Given the description of an element on the screen output the (x, y) to click on. 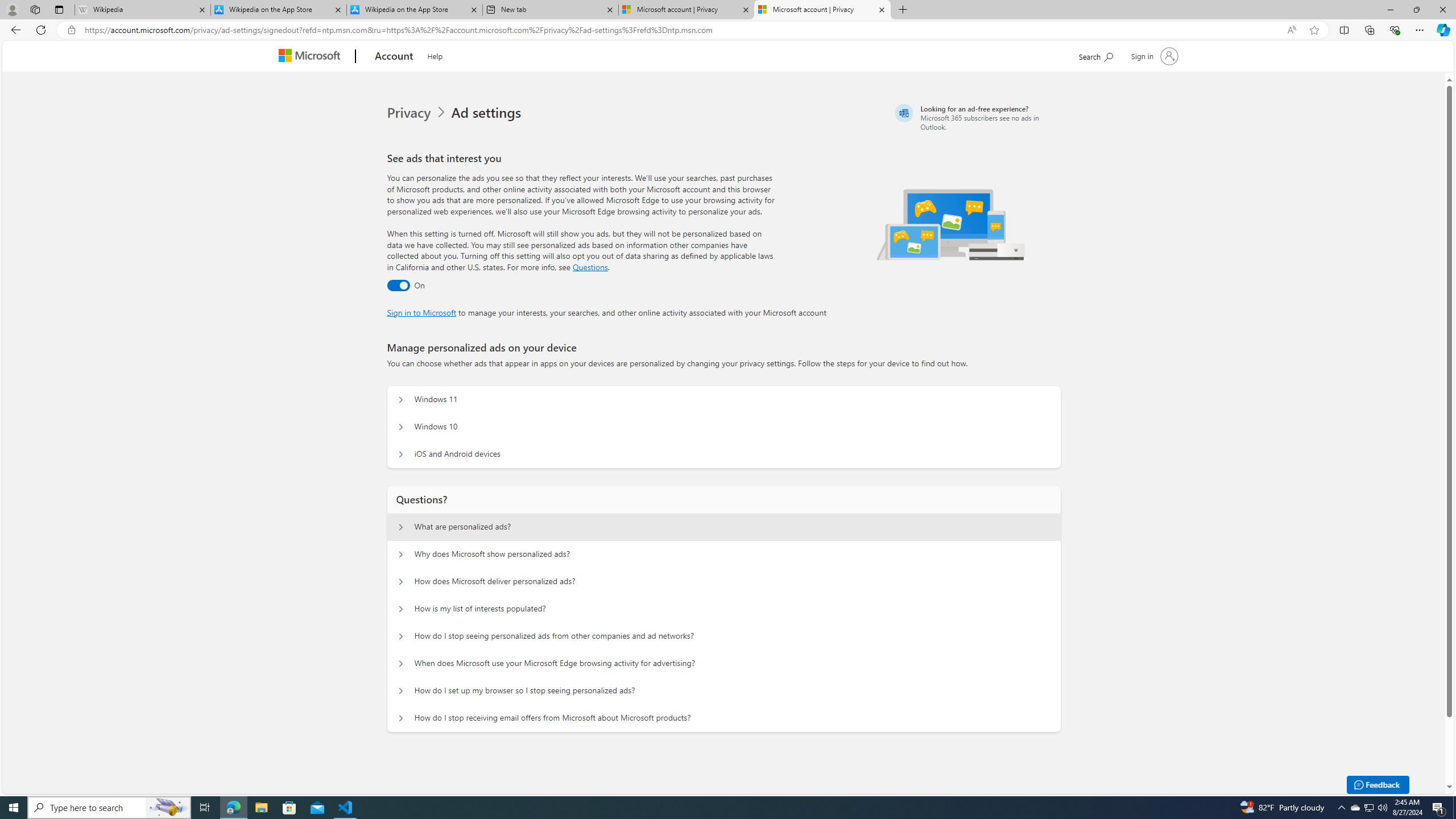
Sign in to your account (1153, 55)
Sign in to Microsoft (422, 311)
Search Microsoft.com (1095, 54)
Questions? How is my list of interests populated? (401, 608)
